Given the description of an element on the screen output the (x, y) to click on. 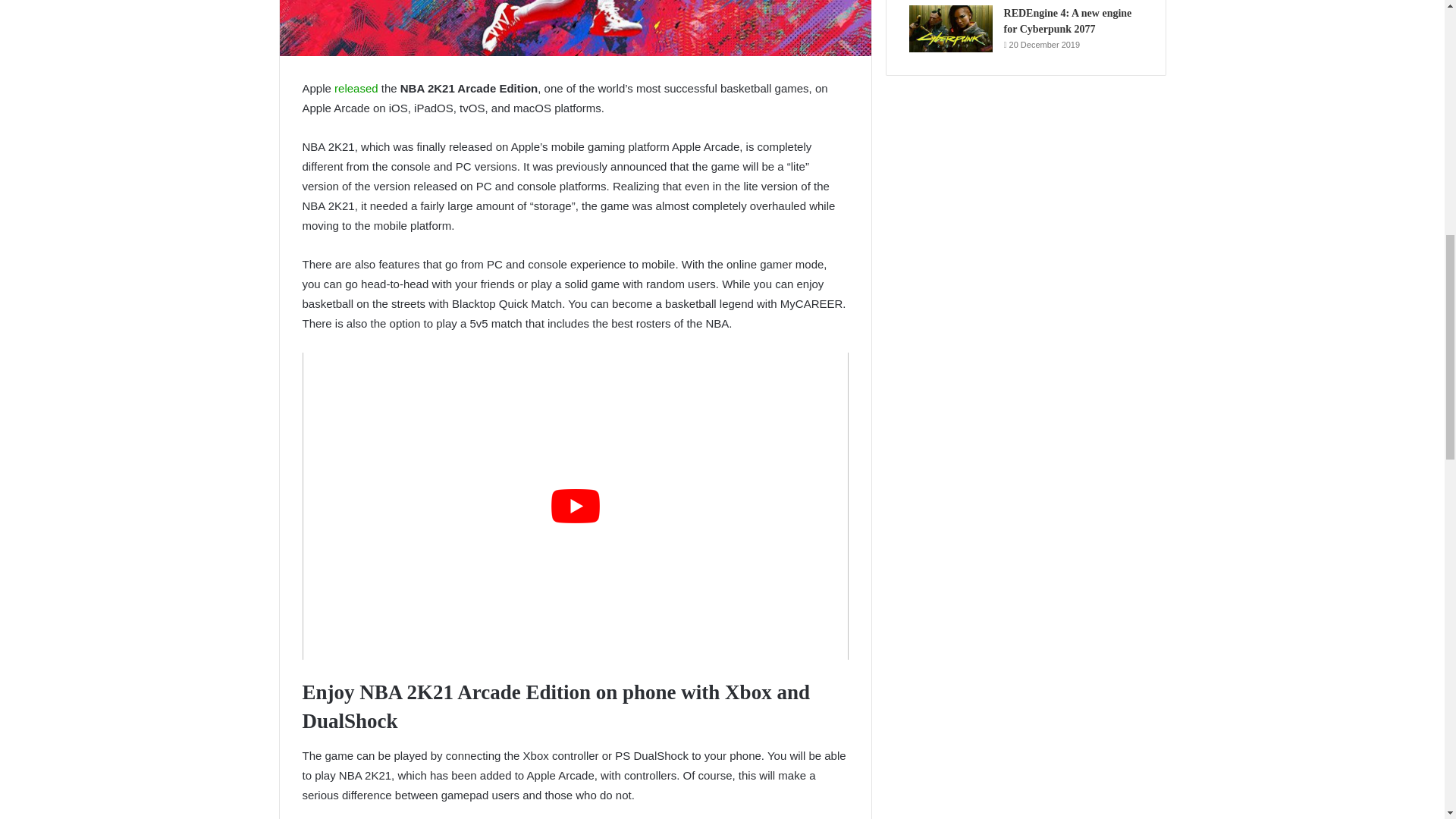
NBA 2K21 Arcade Edition Officially Launched 1 (574, 28)
released (356, 88)
